Given the description of an element on the screen output the (x, y) to click on. 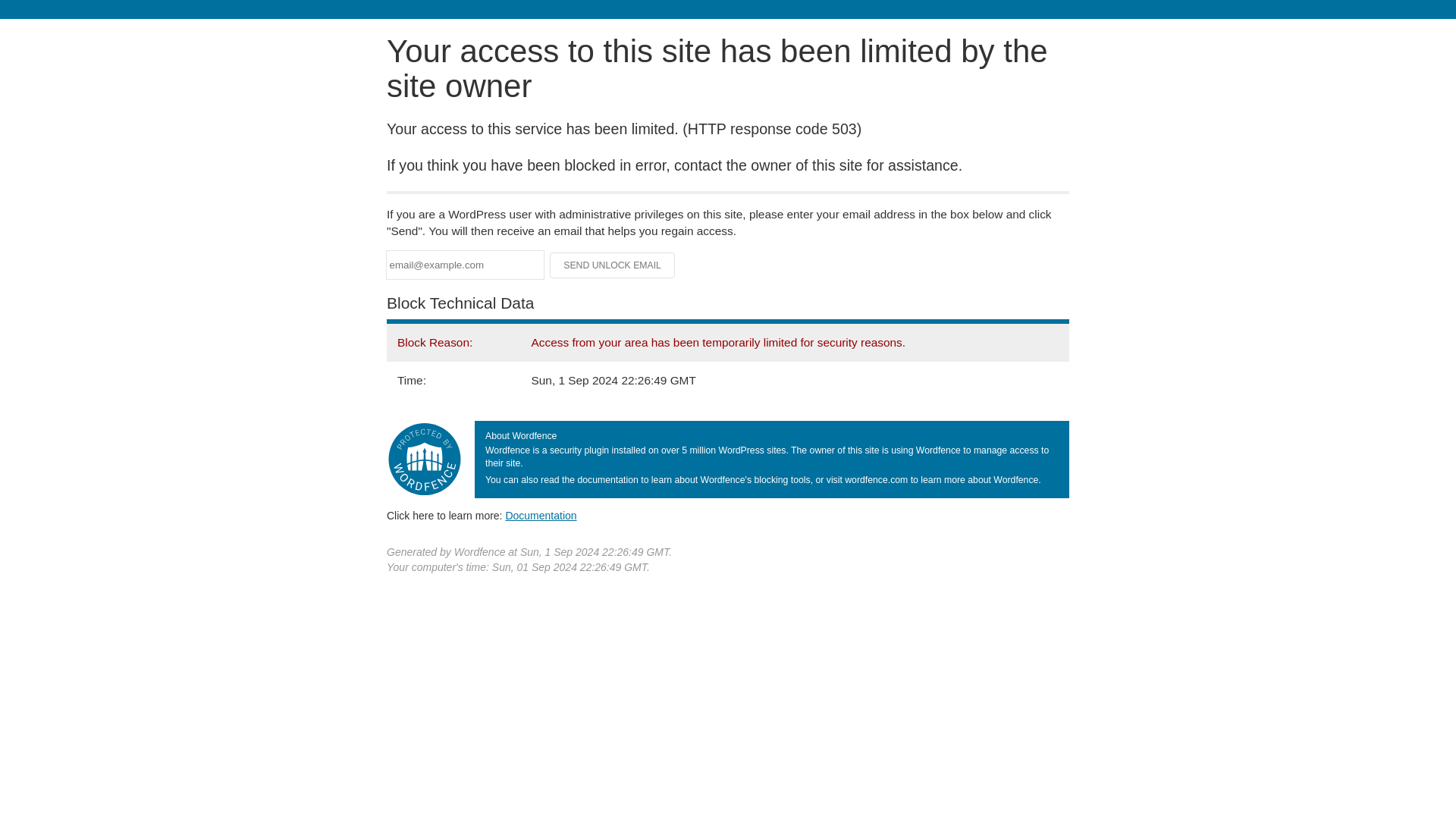
Send Unlock Email (612, 265)
Documentation (540, 515)
Send Unlock Email (612, 265)
